Given the description of an element on the screen output the (x, y) to click on. 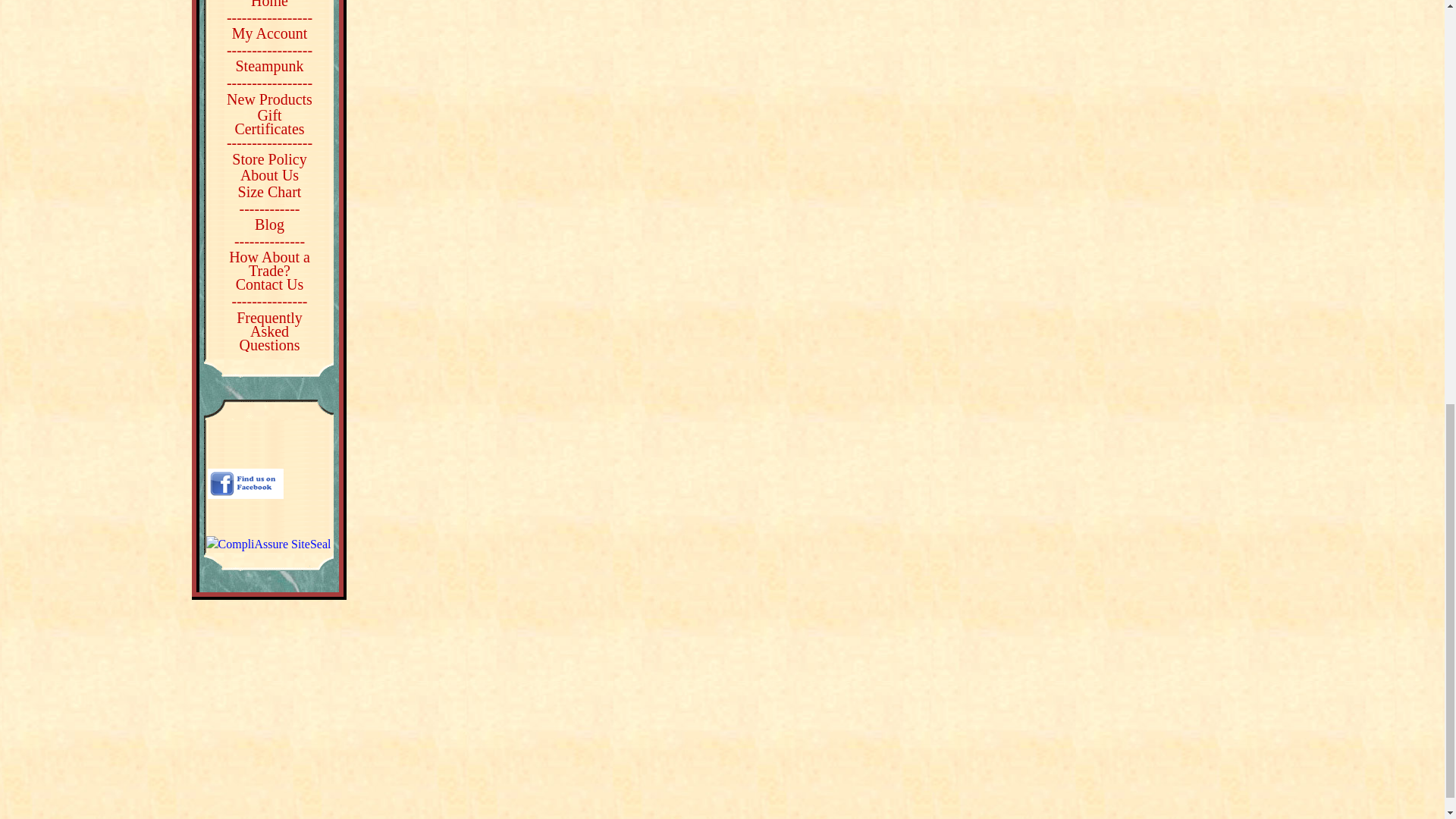
--------------- (269, 300)
About Us (269, 174)
Frequently Asked Questions (269, 331)
New Products (270, 99)
-------------- (269, 241)
Home (269, 3)
Gift Certificates (269, 121)
----------------- (270, 82)
My Account (269, 33)
Contact Us (268, 284)
